Given the description of an element on the screen output the (x, y) to click on. 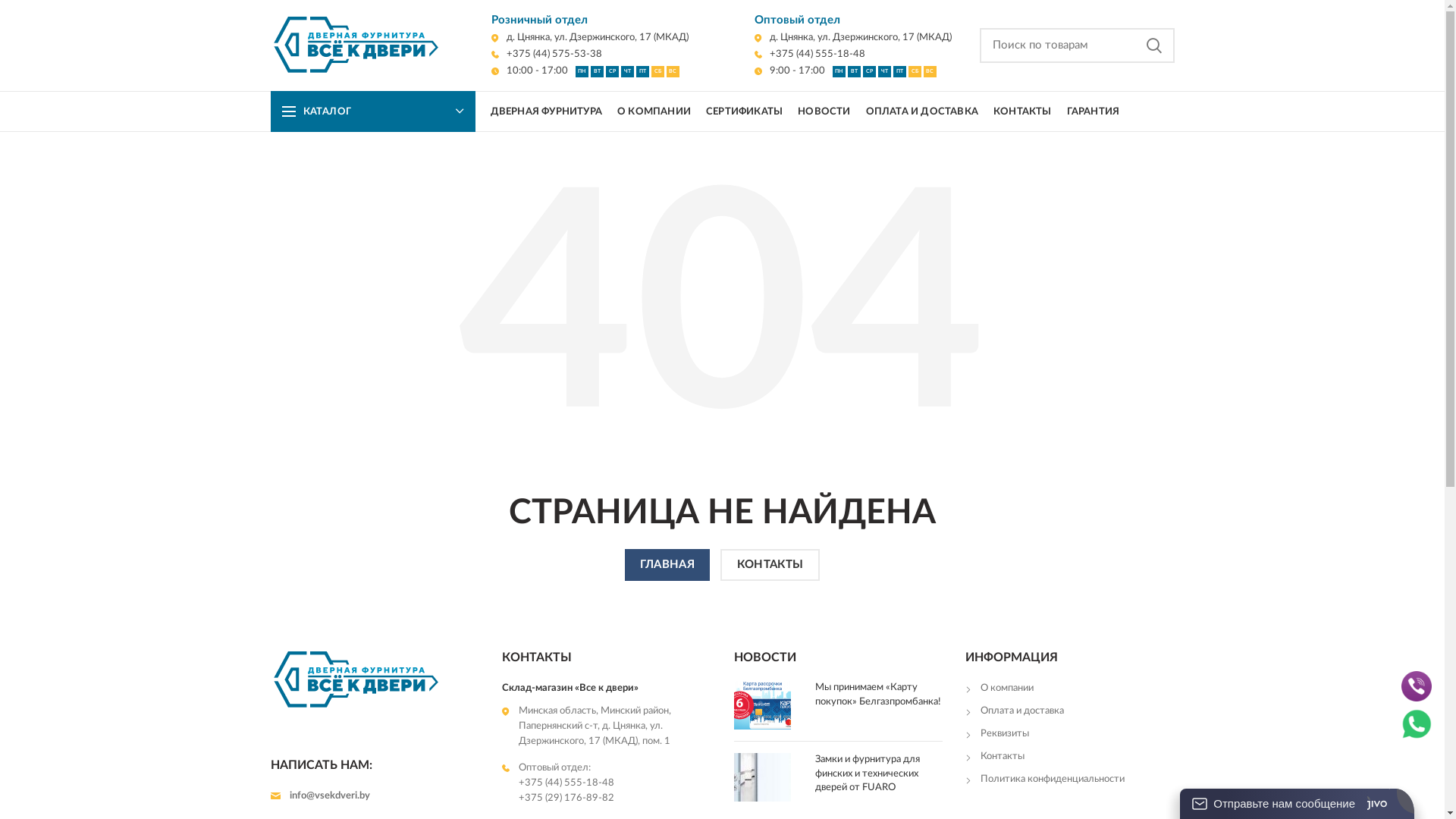
+375 (29) 176-89-82 Element type: text (614, 798)
+375 (44) 575-53-38 Element type: text (546, 54)
karta-belgazprombank-02 Element type: hover (762, 704)
info@vsekdveri.by Element type: text (374, 795)
SEARCH Element type: text (1153, 45)
novost Element type: hover (762, 777)
+375 (44) 555-18-48 Element type: text (614, 782)
+375 (44) 555-18-48 Element type: text (808, 54)
